Given the description of an element on the screen output the (x, y) to click on. 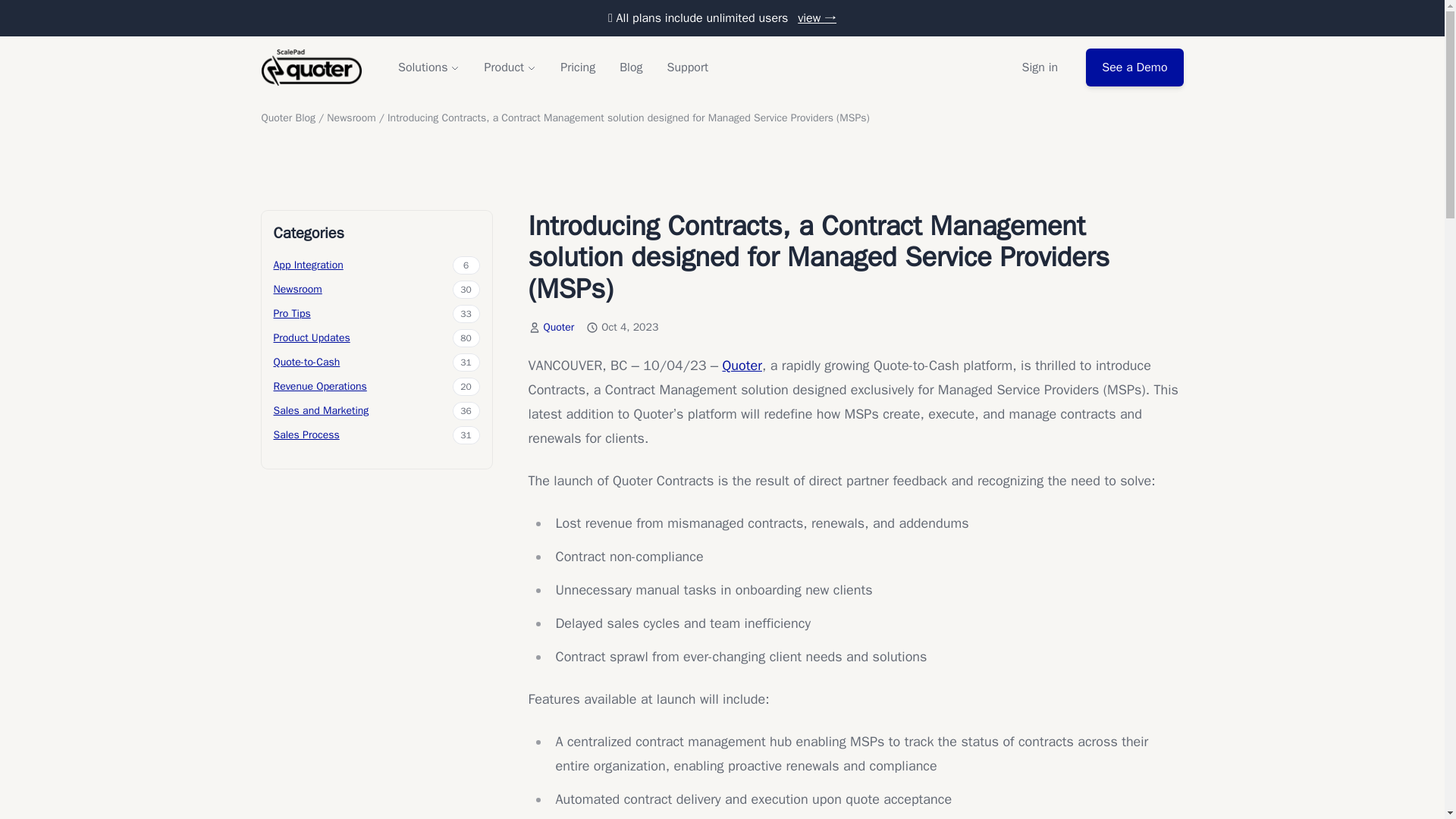
Quoter Software Inc (310, 67)
Product (509, 67)
Solutions (428, 67)
